Given the description of an element on the screen output the (x, y) to click on. 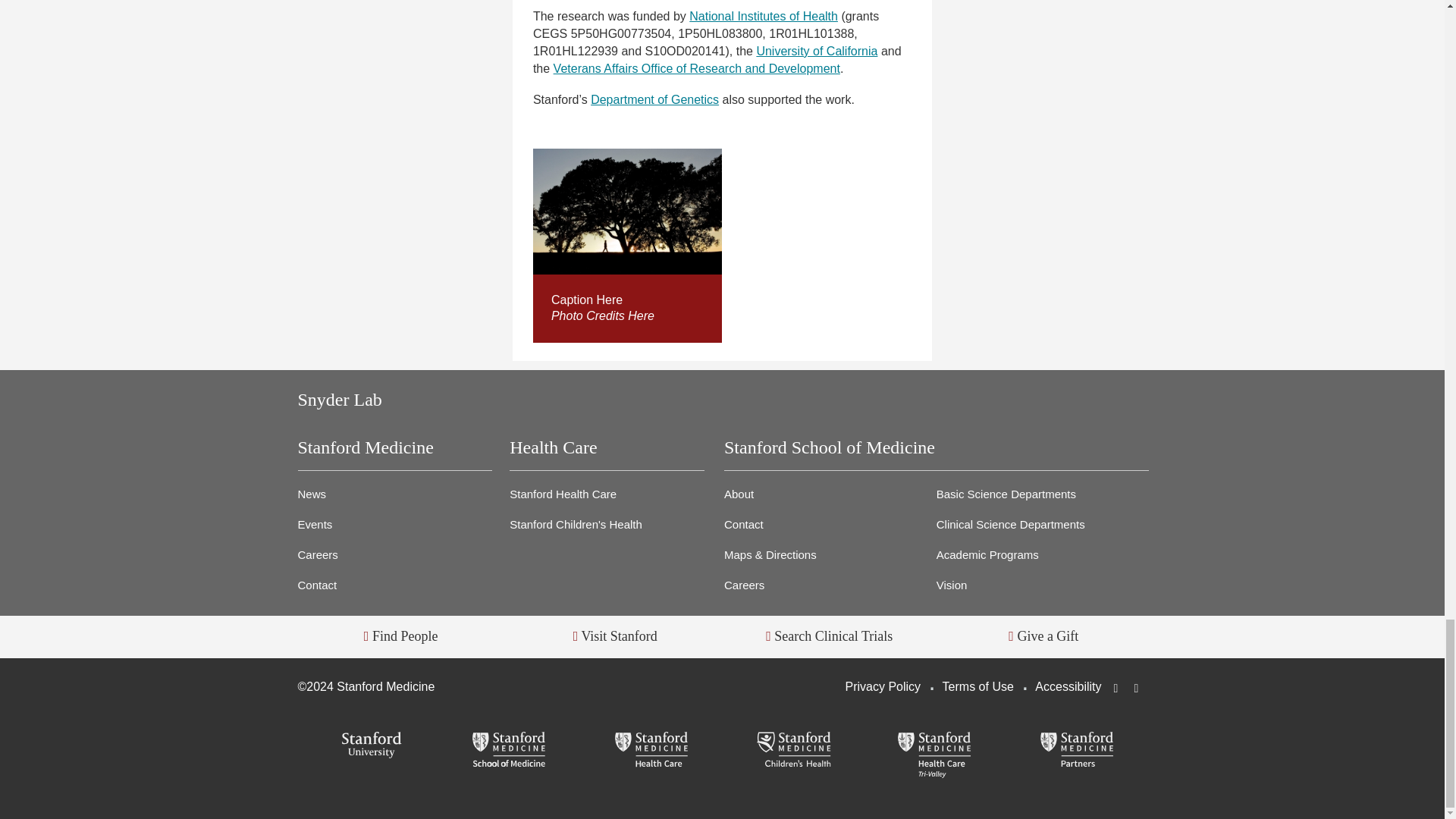
Stanford University (368, 746)
test  (627, 211)
Stanford Children's Health (793, 750)
Stanford Health Care Tri-Valley (934, 755)
Stanford Medicine Partners (1076, 750)
Stanford Health Care (650, 750)
Stanford School of Medicine (509, 750)
